Given the description of an element on the screen output the (x, y) to click on. 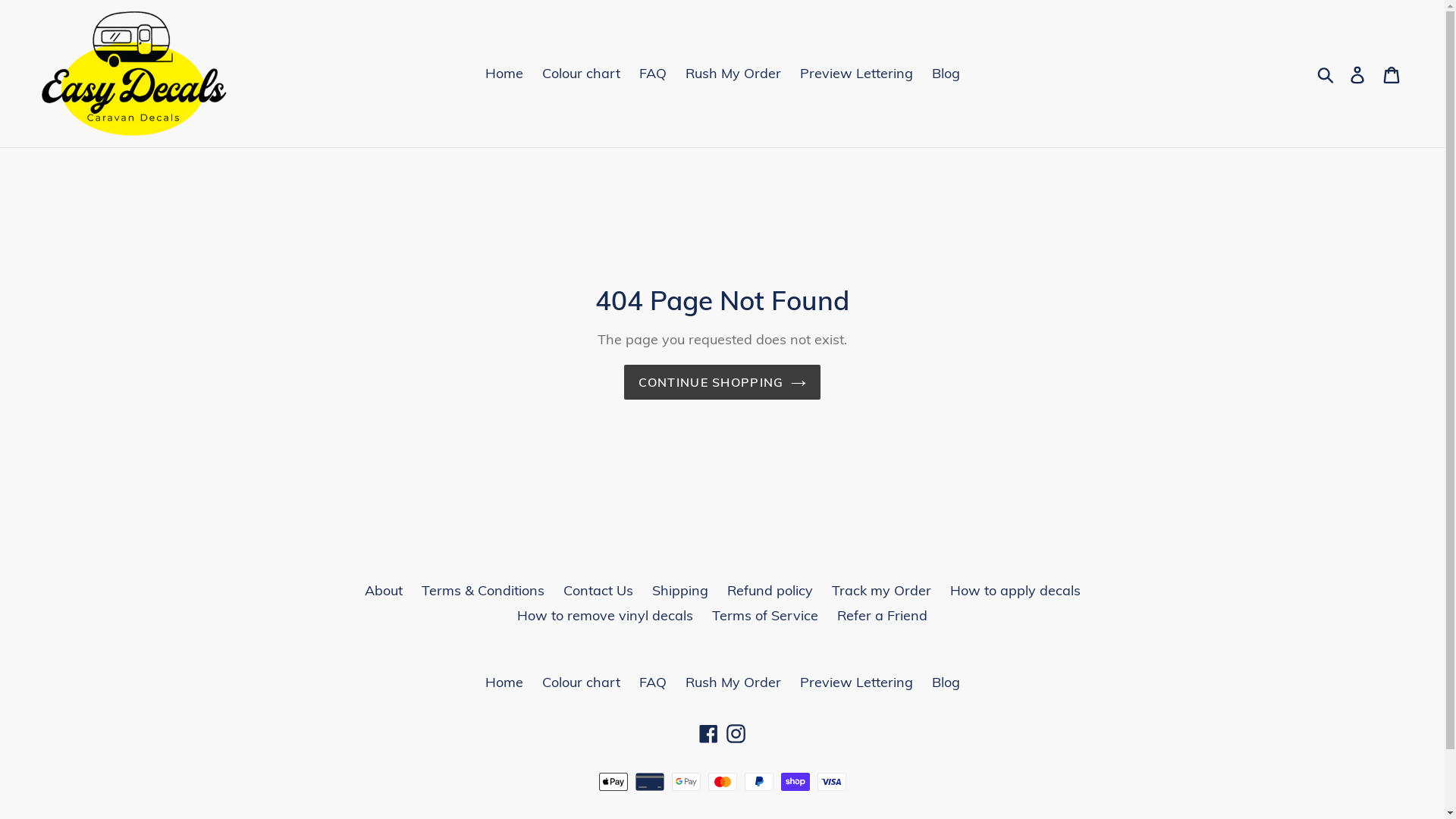
Refund policy Element type: text (769, 590)
Rush My Order Element type: text (732, 72)
Colour chart Element type: text (580, 681)
Rush My Order Element type: text (733, 681)
Cart Element type: text (1392, 73)
Submit Element type: text (1326, 73)
How to apply decals Element type: text (1014, 590)
FAQ Element type: text (651, 681)
CONTINUE SHOPPING Element type: text (722, 381)
Log in Element type: text (1358, 73)
Home Element type: text (503, 72)
Terms of Service Element type: text (765, 615)
Blog Element type: text (944, 72)
Shipping Element type: text (680, 590)
FAQ Element type: text (651, 72)
Track my Order Element type: text (880, 590)
Instagram Element type: text (735, 732)
Facebook Element type: text (708, 732)
About Element type: text (382, 590)
Preview Lettering Element type: text (855, 681)
Colour chart Element type: text (580, 72)
Blog Element type: text (945, 681)
How to remove vinyl decals Element type: text (605, 615)
Preview Lettering Element type: text (855, 72)
Contact Us Element type: text (597, 590)
Home Element type: text (504, 681)
Refer a Friend Element type: text (882, 615)
Terms & Conditions Element type: text (482, 590)
